Given the description of an element on the screen output the (x, y) to click on. 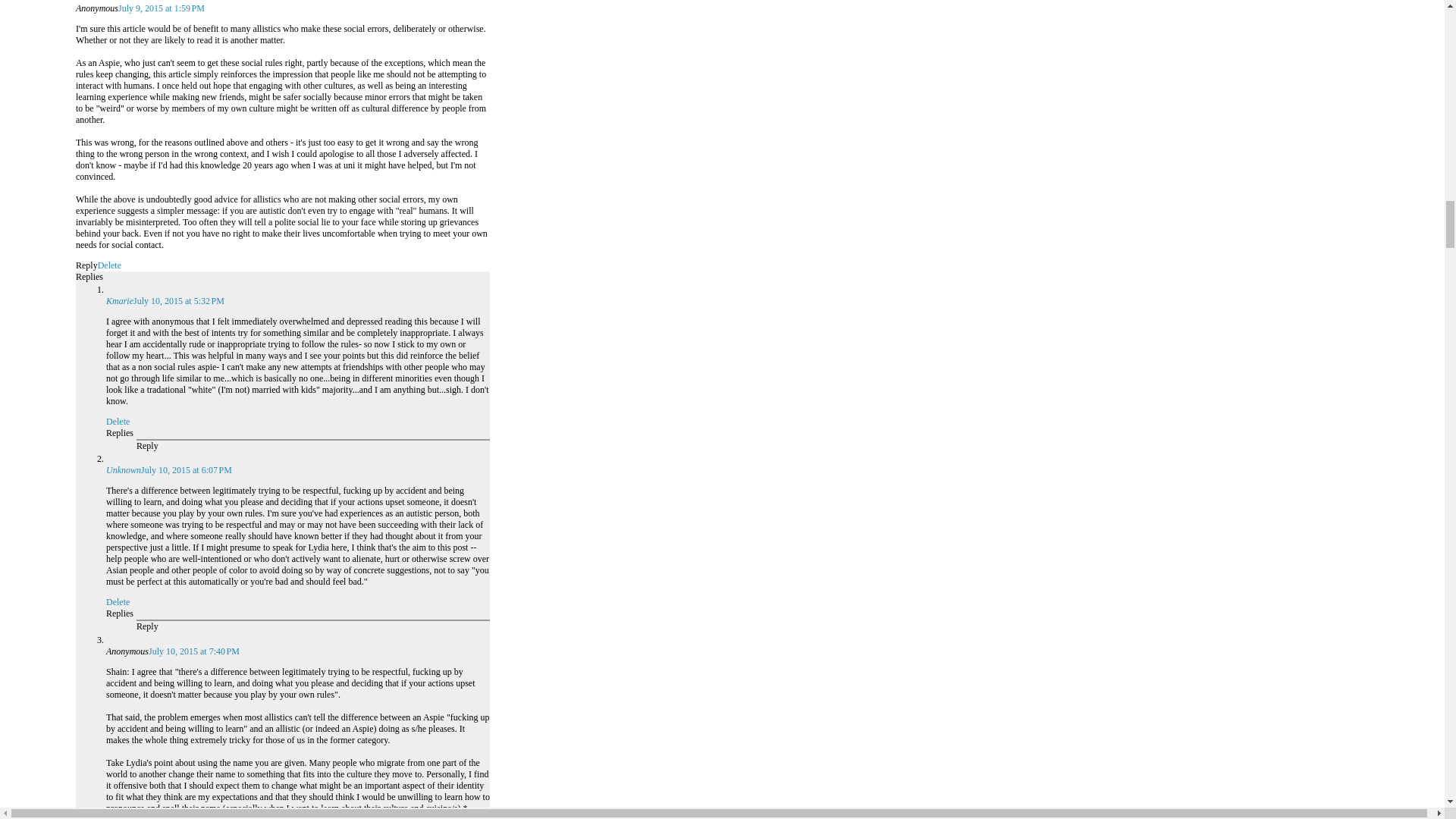
Unknown (123, 470)
Replies (119, 432)
Kmarie (119, 300)
Delete (108, 265)
Delete (117, 602)
Reply (147, 445)
Replies (119, 613)
Delete (117, 421)
Reply (147, 625)
Reply (86, 265)
Replies (89, 276)
